Given the description of an element on the screen output the (x, y) to click on. 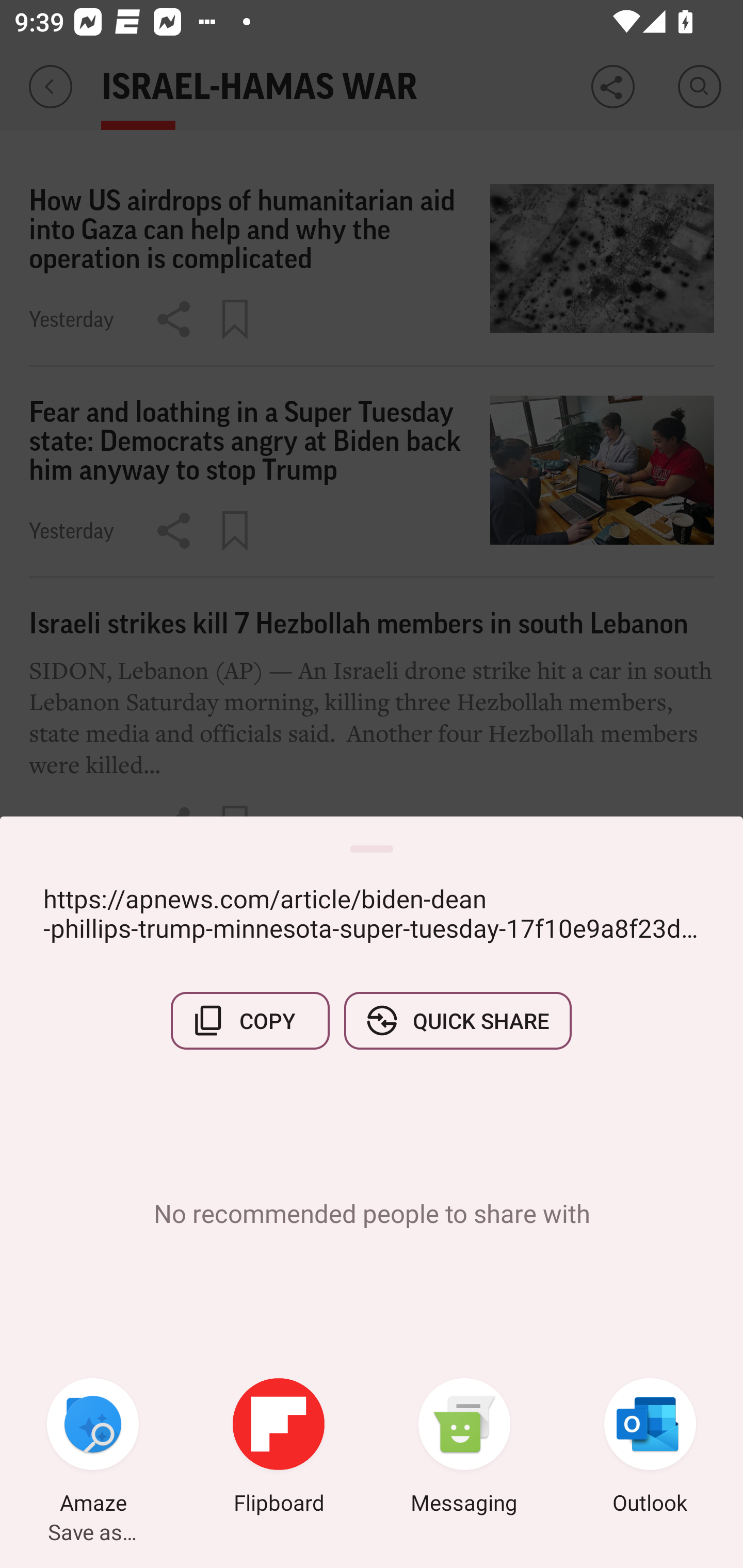
COPY (249, 1020)
QUICK SHARE (457, 1020)
Amaze Save as… (92, 1448)
Flipboard (278, 1448)
Messaging (464, 1448)
Outlook (650, 1448)
